Given the description of an element on the screen output the (x, y) to click on. 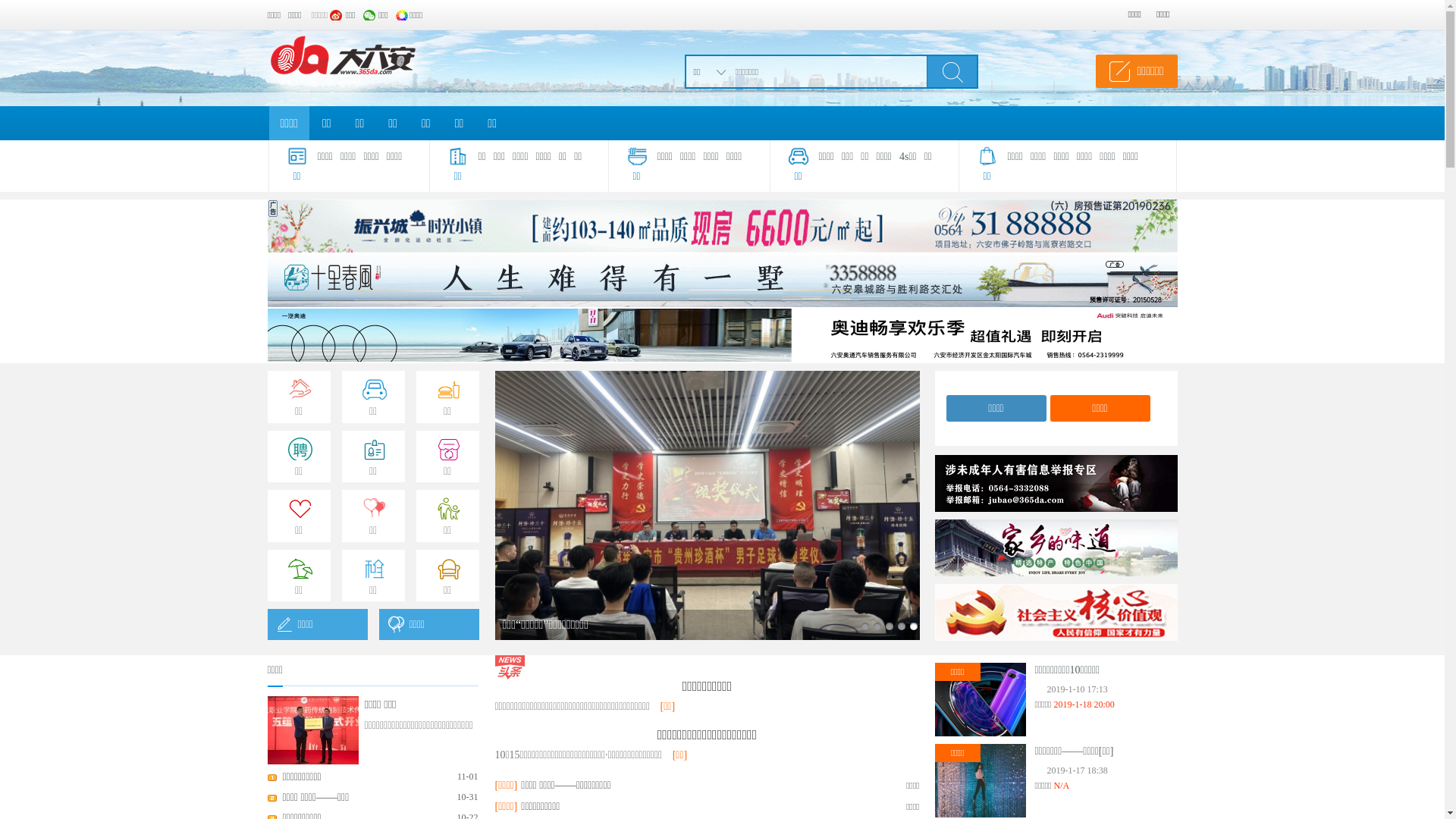
true Element type: text (951, 71)
